Given the description of an element on the screen output the (x, y) to click on. 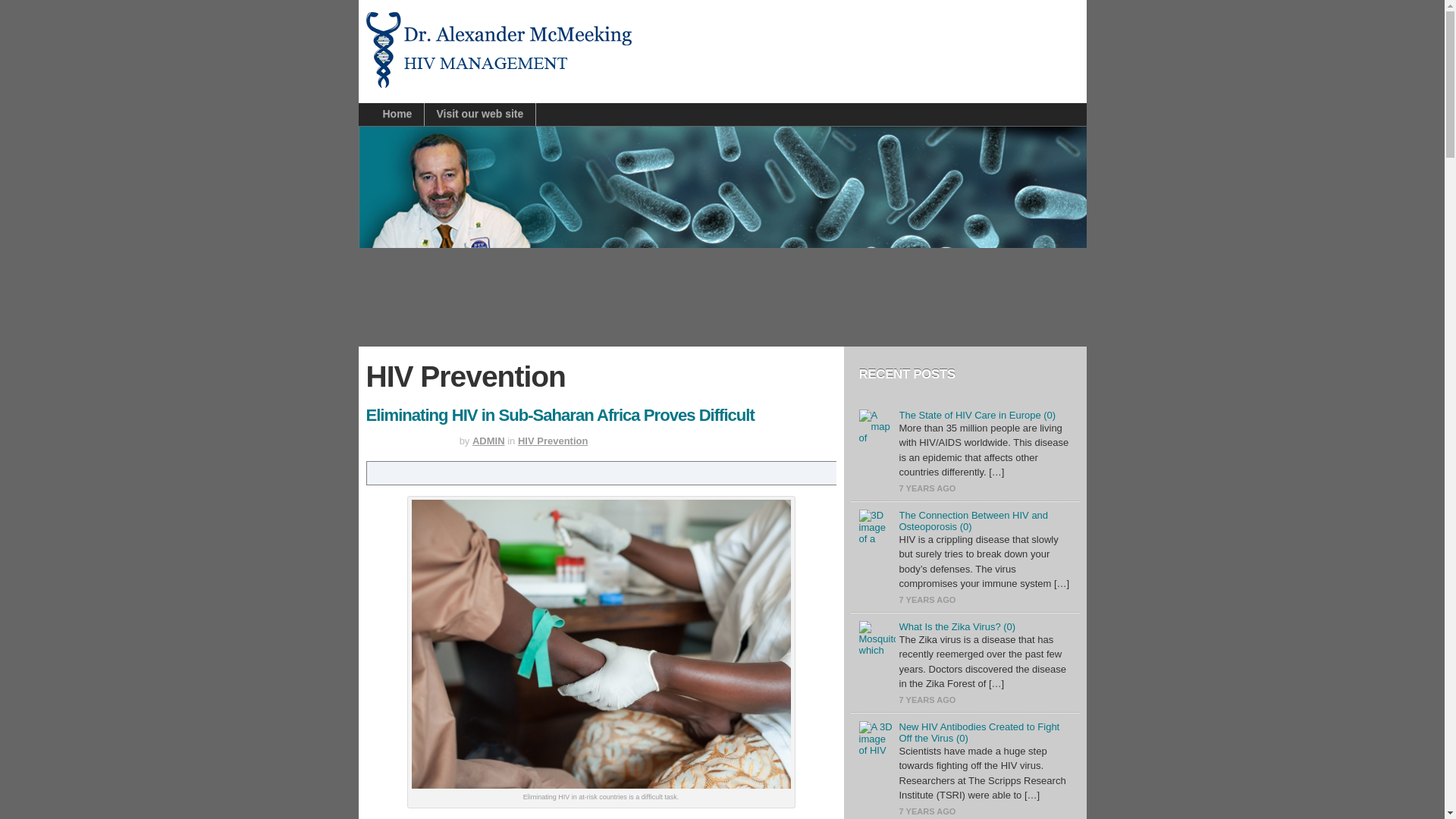
ADMIN (488, 440)
sub-Saharan region of Africa (593, 818)
Eliminating HIV in Sub-Saharan Africa Proves Difficult (559, 415)
Visit our web site (479, 114)
Home (390, 114)
Posts by ADMIN  (488, 440)
HIV Prevention (553, 440)
Home Page (390, 114)
